Given the description of an element on the screen output the (x, y) to click on. 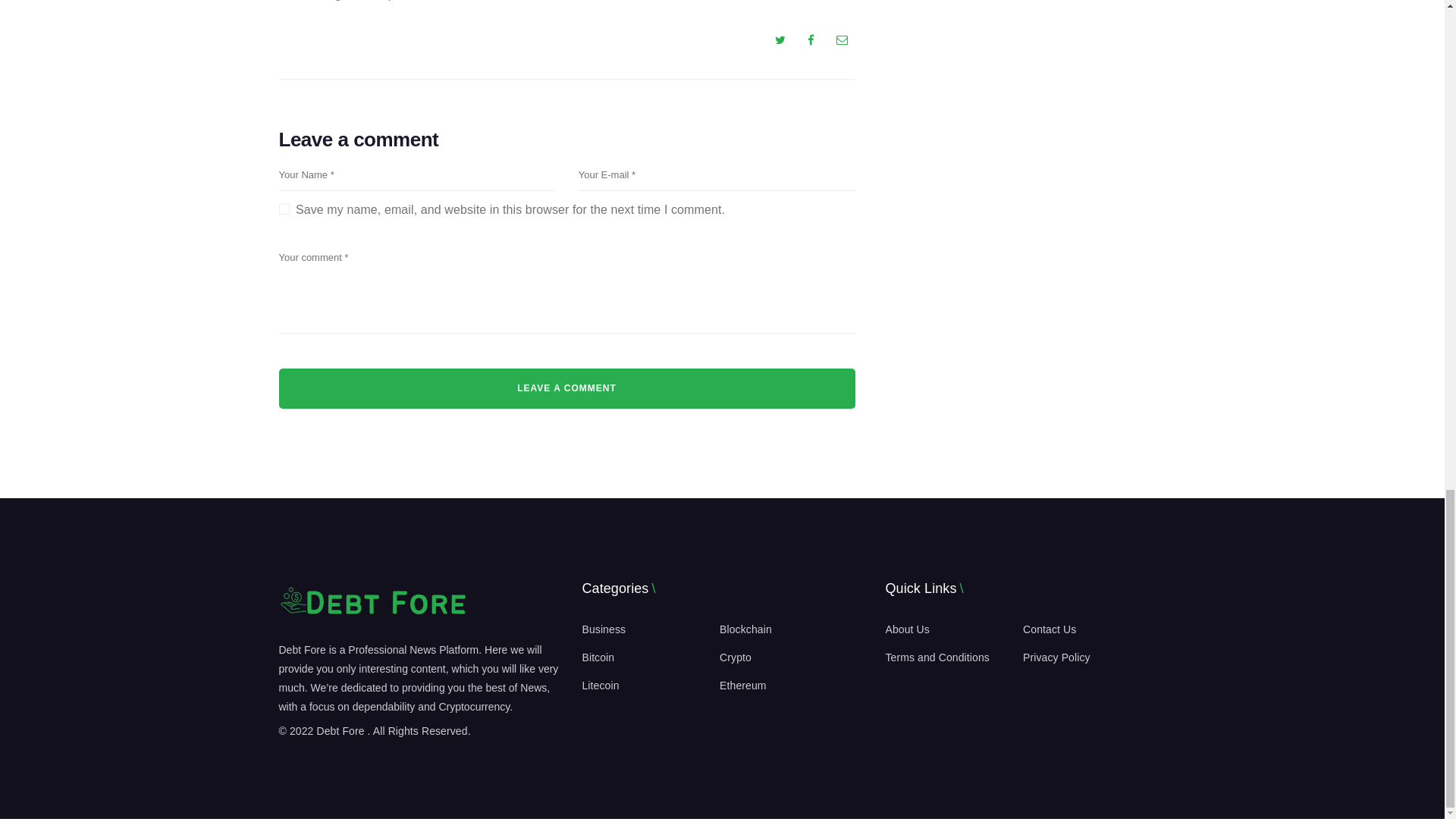
Leave a comment (567, 388)
